Given the description of an element on the screen output the (x, y) to click on. 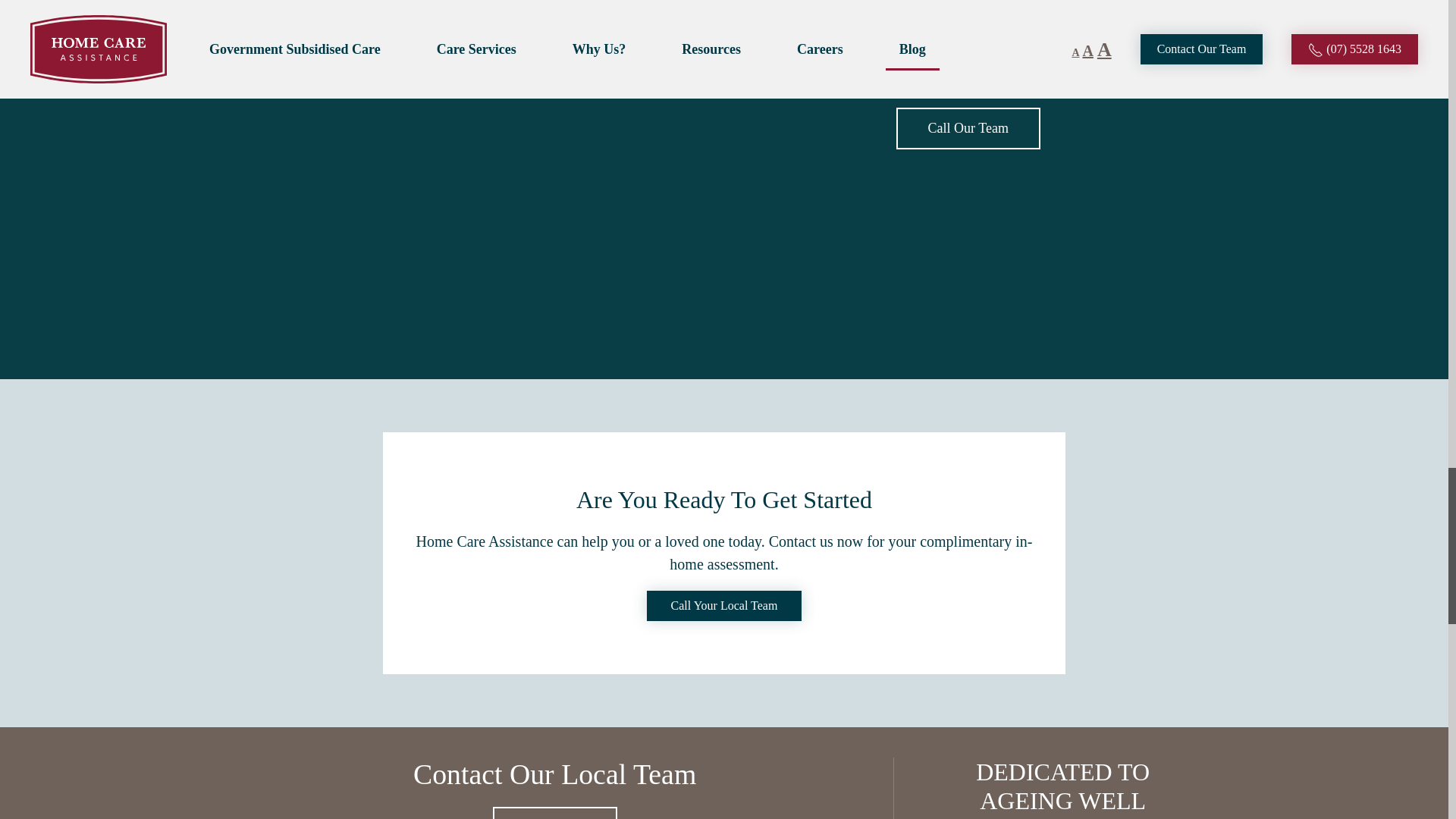
Gold Coast (968, 128)
